Given the description of an element on the screen output the (x, y) to click on. 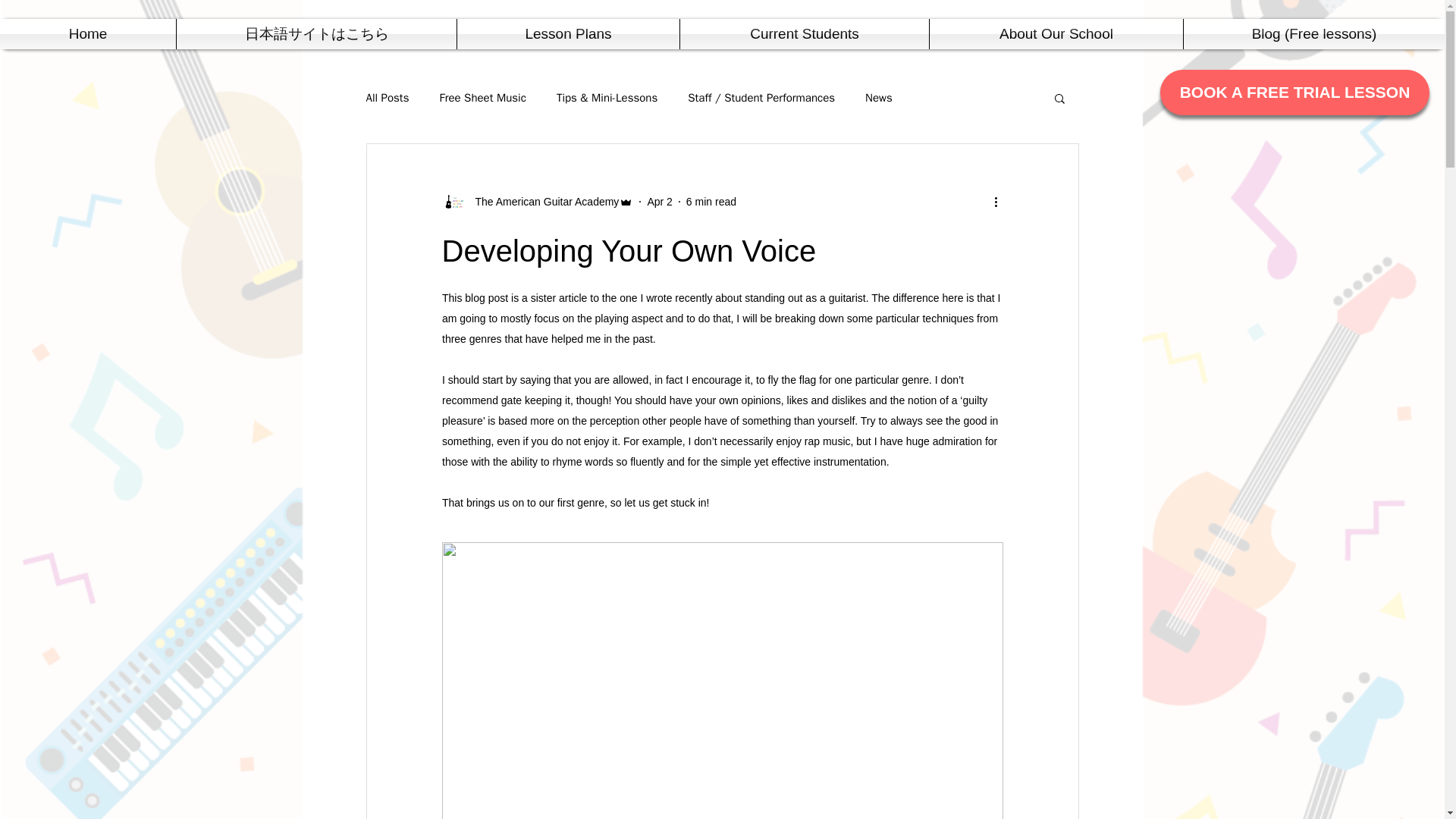
All Posts (387, 97)
Apr 2 (658, 201)
Free Sheet Music (482, 97)
BOOK A FREE TRIAL LESSON (1294, 92)
News (878, 97)
The American Guitar Academy (541, 201)
Home (88, 33)
The American Guitar Academy (537, 201)
6 min read (710, 201)
